Given the description of an element on the screen output the (x, y) to click on. 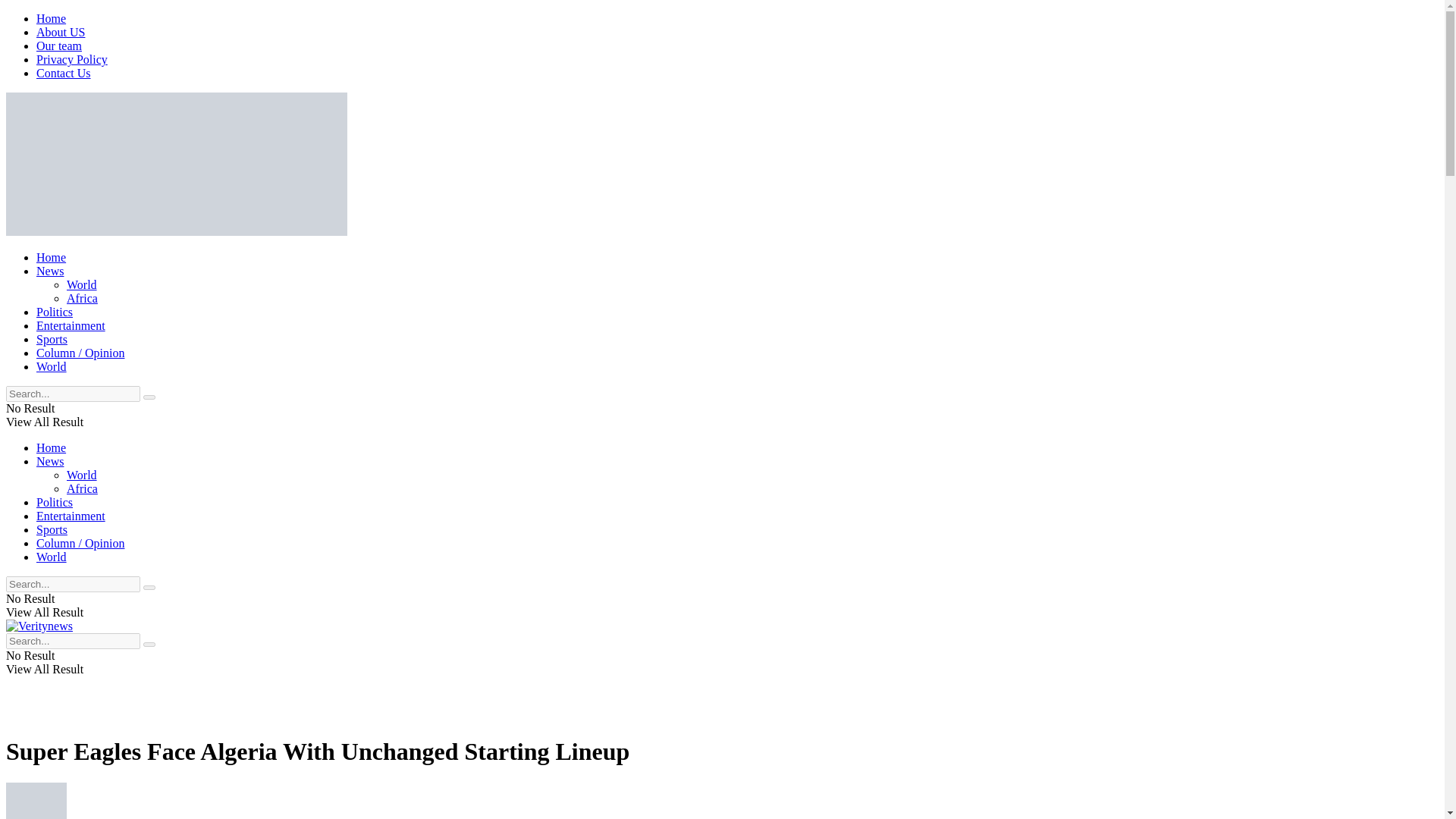
World (81, 474)
Africa (81, 488)
Contact Us (63, 72)
About US (60, 31)
Sports (51, 529)
Politics (54, 502)
Home (50, 256)
News (50, 461)
Privacy Policy (71, 59)
World (81, 284)
